Given the description of an element on the screen output the (x, y) to click on. 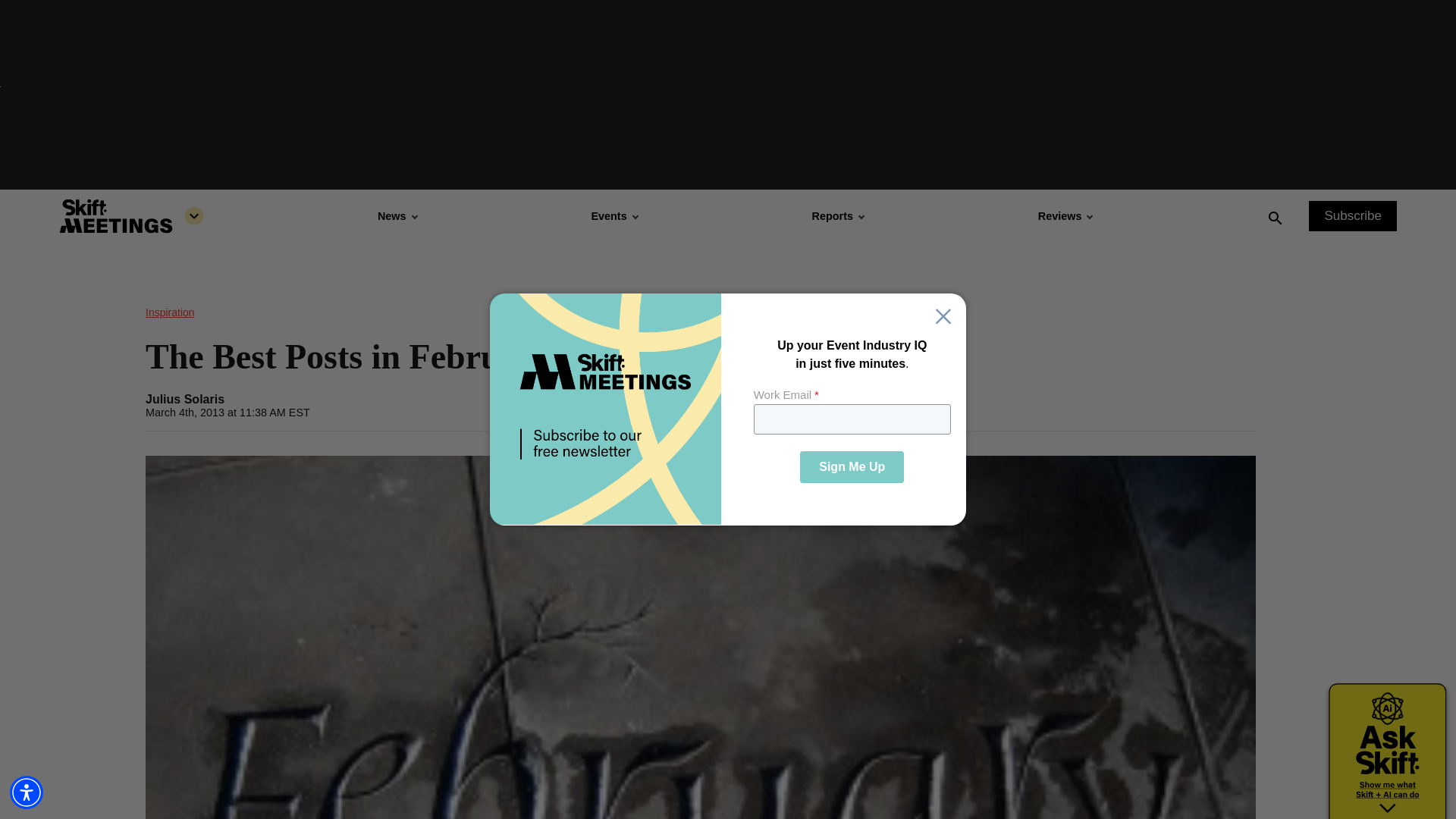
Accessibility Menu (26, 792)
Reviews (1065, 215)
Subscribe (1352, 215)
Popup CTA (727, 409)
Reports (837, 215)
